Given the description of an element on the screen output the (x, y) to click on. 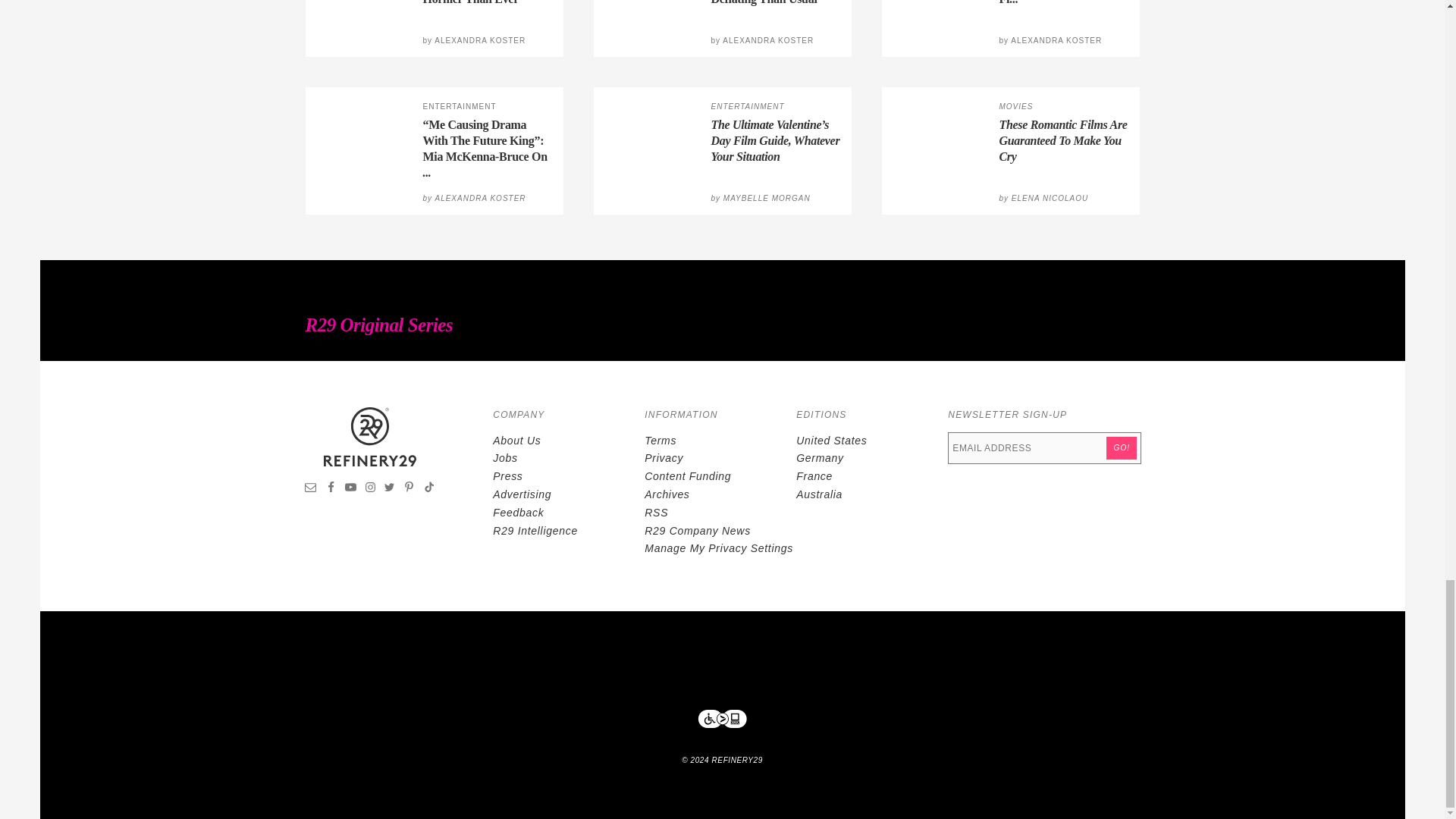
Sign up for newsletters (310, 489)
Visit Refinery29 on TikTok (428, 489)
Visit Refinery29 on YouTube (350, 489)
